Given the description of an element on the screen output the (x, y) to click on. 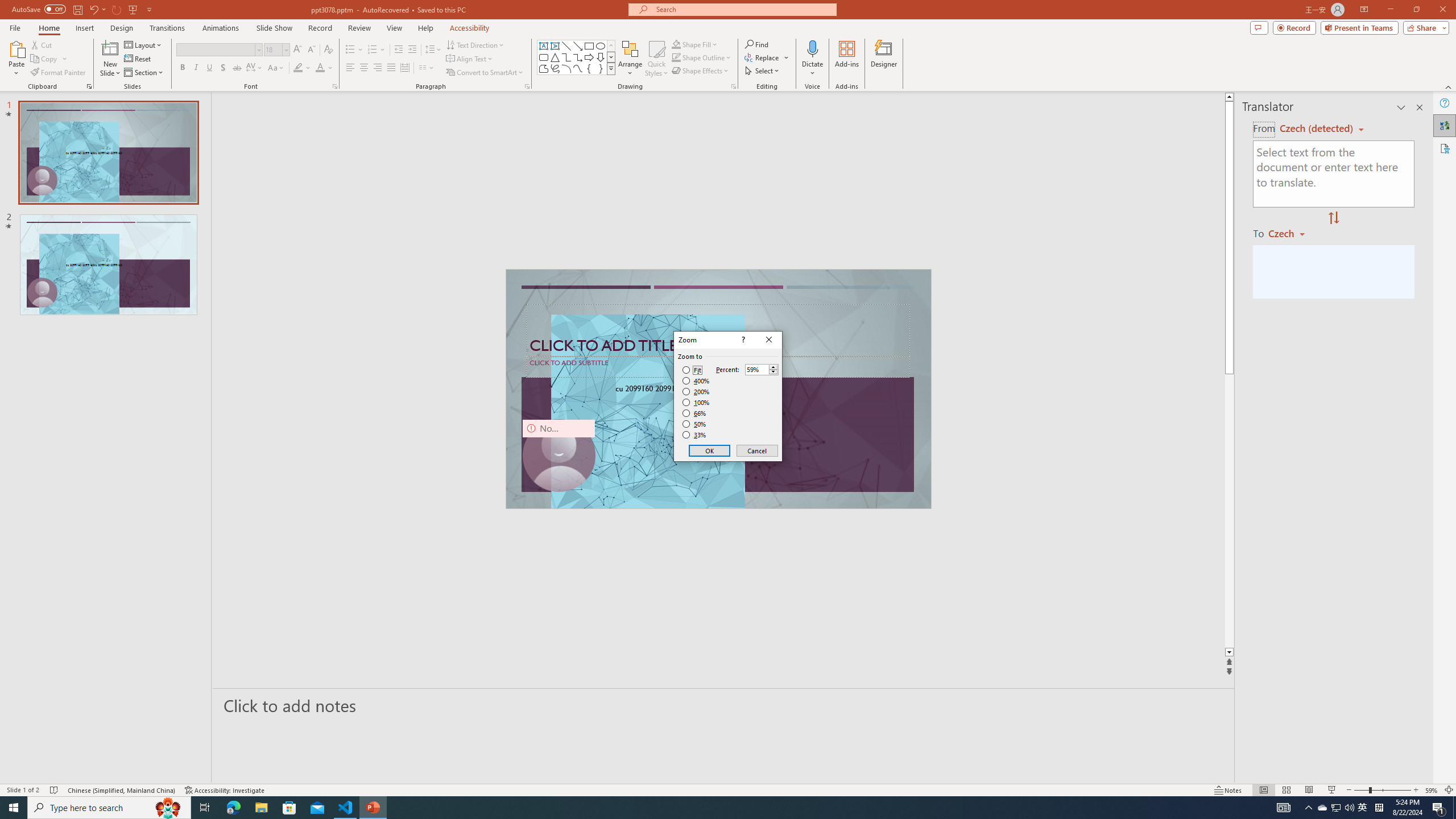
Percent (761, 369)
